Given the description of an element on the screen output the (x, y) to click on. 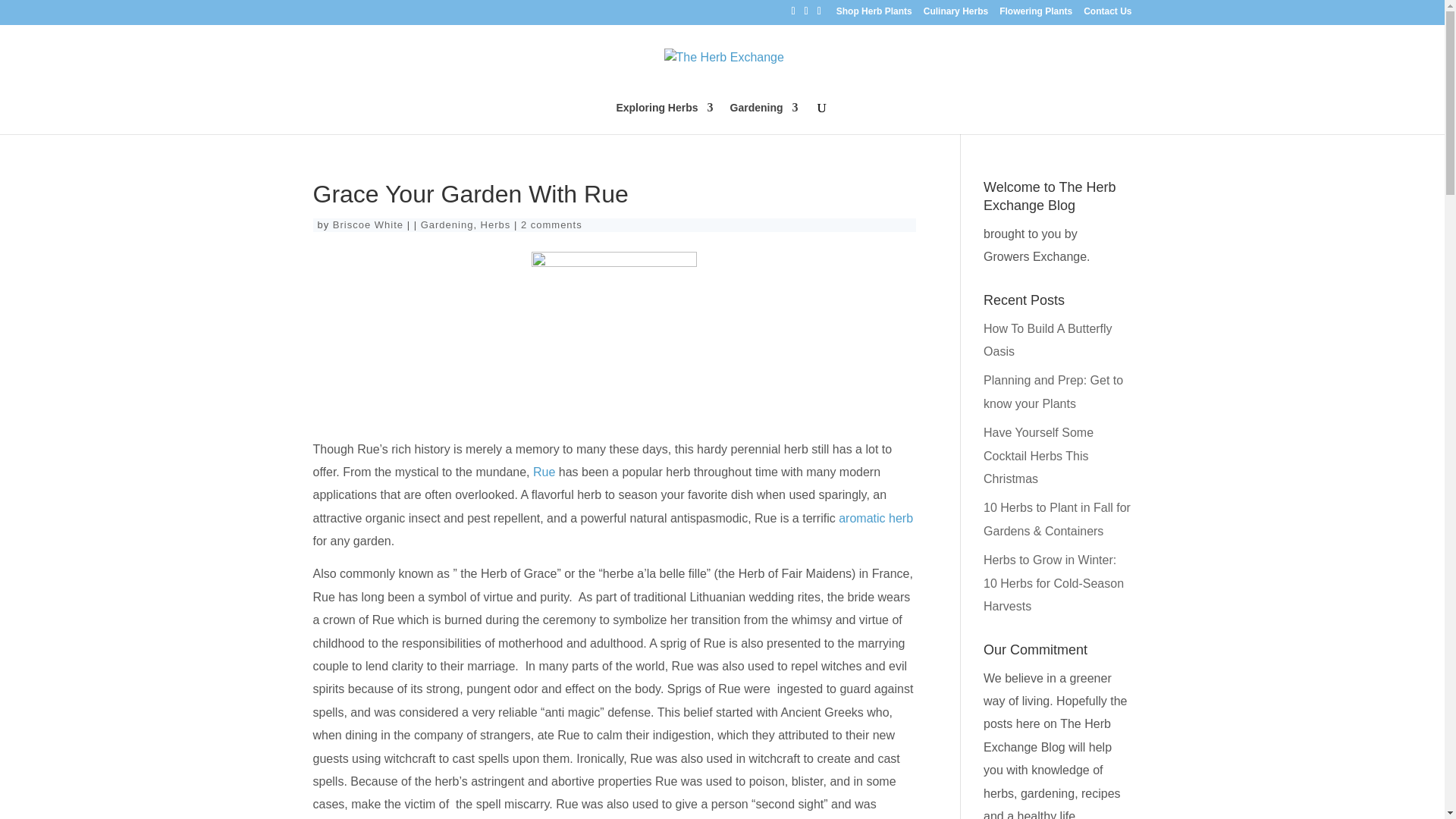
Posts by Briscoe White (368, 224)
Exploring Herbs (664, 118)
Culinary Herbs (955, 14)
Shop Herb Plants (873, 14)
Briscoe White (368, 224)
Rue (543, 472)
Gardening (763, 118)
Contact Us (1107, 14)
Flowering Plants (1034, 14)
aromatic herb (875, 517)
